Given the description of an element on the screen output the (x, y) to click on. 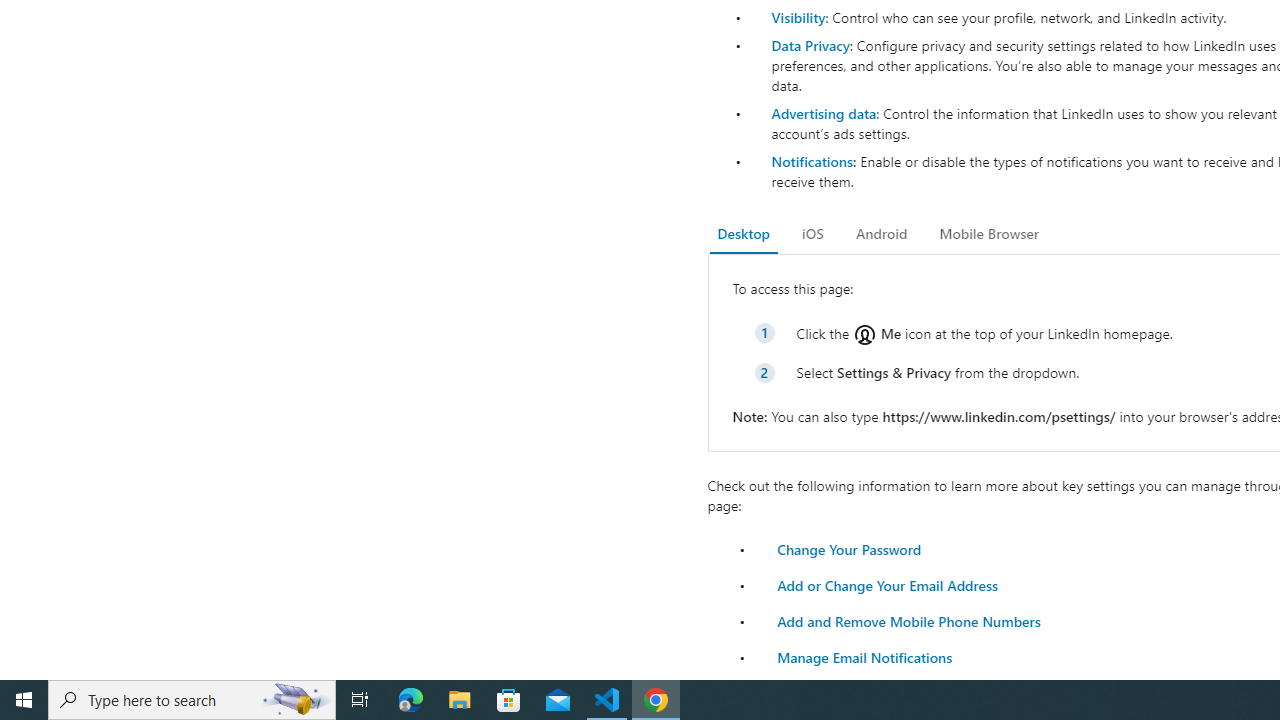
Android (881, 234)
Notifications (811, 161)
Advertising data (823, 112)
Add or Change Your Email Address (887, 584)
Manage Email Notifications (864, 656)
iOS (812, 234)
Change Your Password (848, 548)
Data Privacy (809, 44)
Desktop (744, 234)
Add and Remove Mobile Phone Numbers (908, 620)
Visibility (797, 17)
Mobile Browser (988, 234)
